Given the description of an element on the screen output the (x, y) to click on. 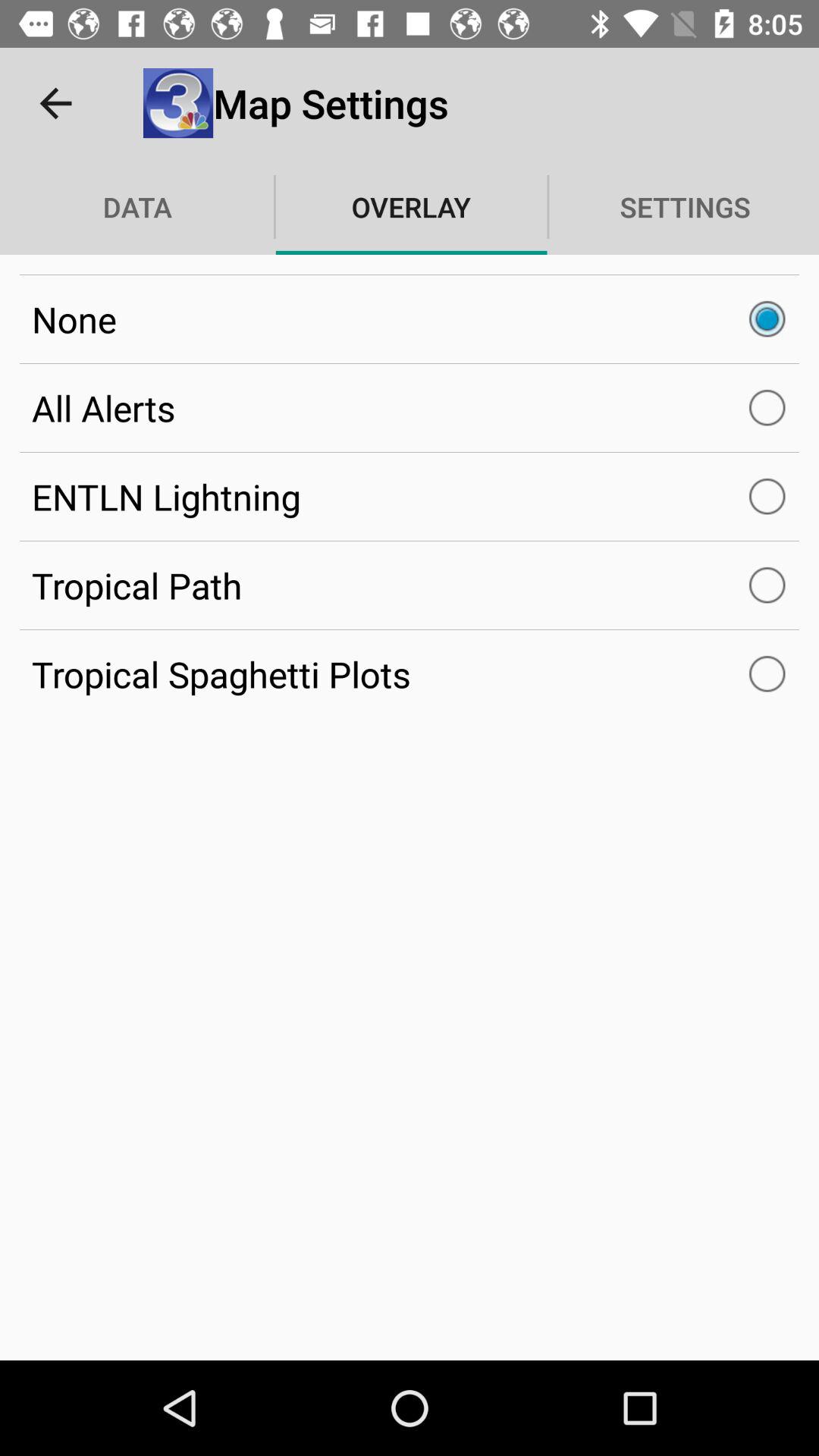
launch icon below all alerts icon (409, 496)
